Given the description of an element on the screen output the (x, y) to click on. 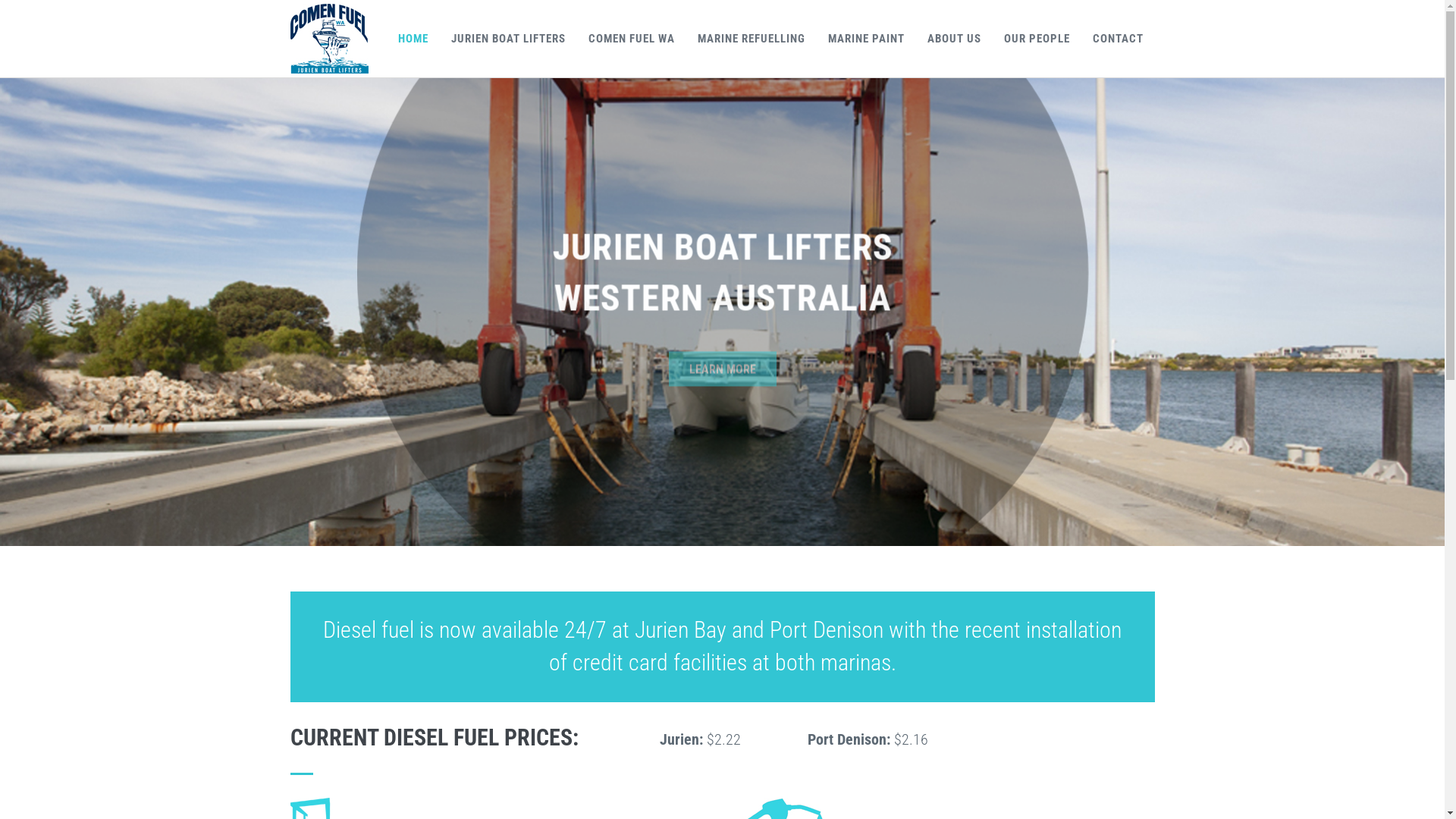
LEARN MORE Element type: text (722, 393)
COMEN FUEL WA Element type: text (630, 37)
ABOUT US Element type: text (954, 37)
HOME Element type: text (412, 37)
MARINE REFUELLING Element type: text (750, 37)
CONTACT Element type: text (1117, 37)
OUR PEOPLE Element type: text (1035, 37)
MARINE PAINT Element type: text (865, 37)
JURIEN BOAT LIFTERS Element type: text (508, 37)
